Given the description of an element on the screen output the (x, y) to click on. 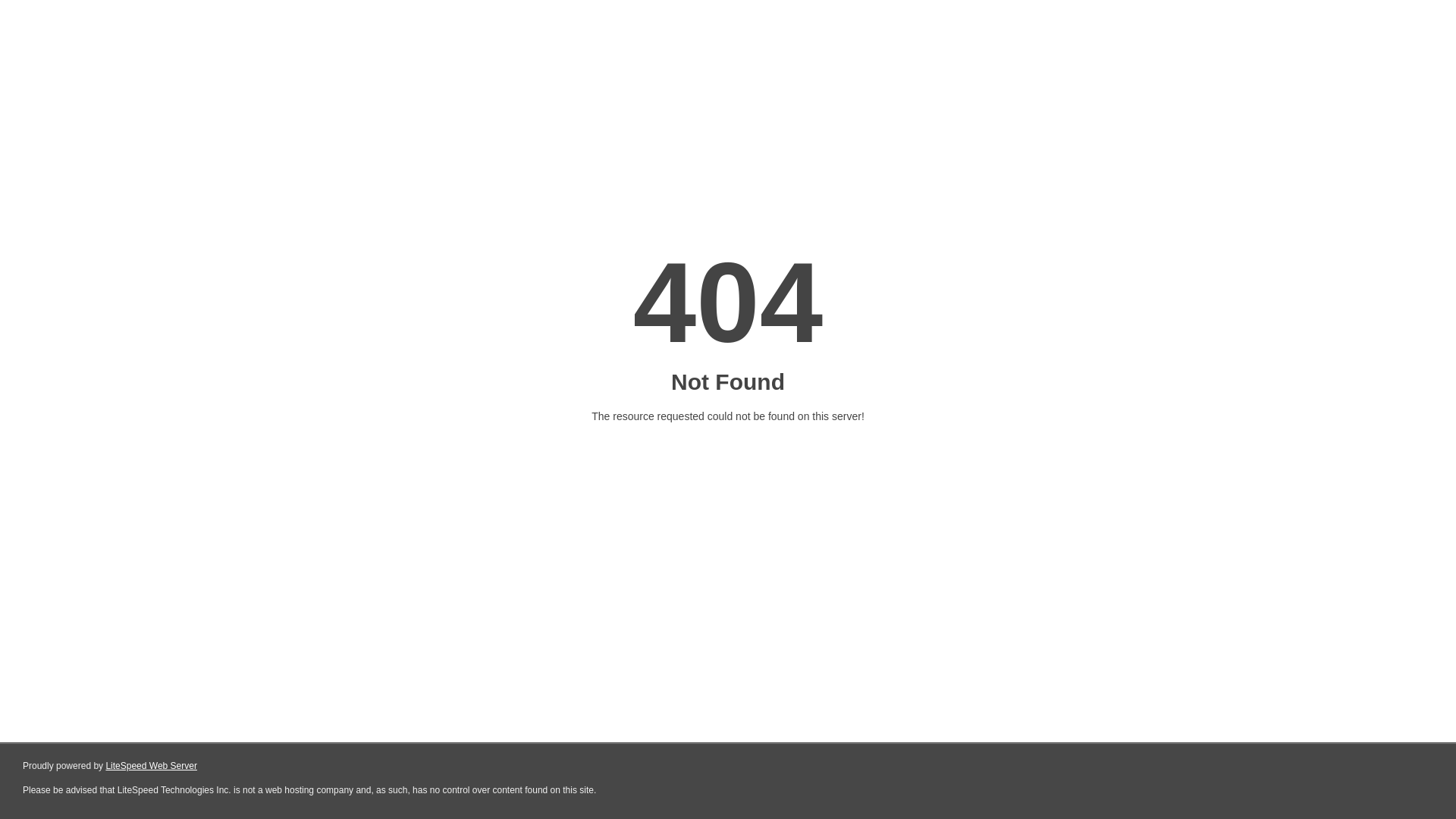
LiteSpeed Web Server Element type: text (151, 765)
